Given the description of an element on the screen output the (x, y) to click on. 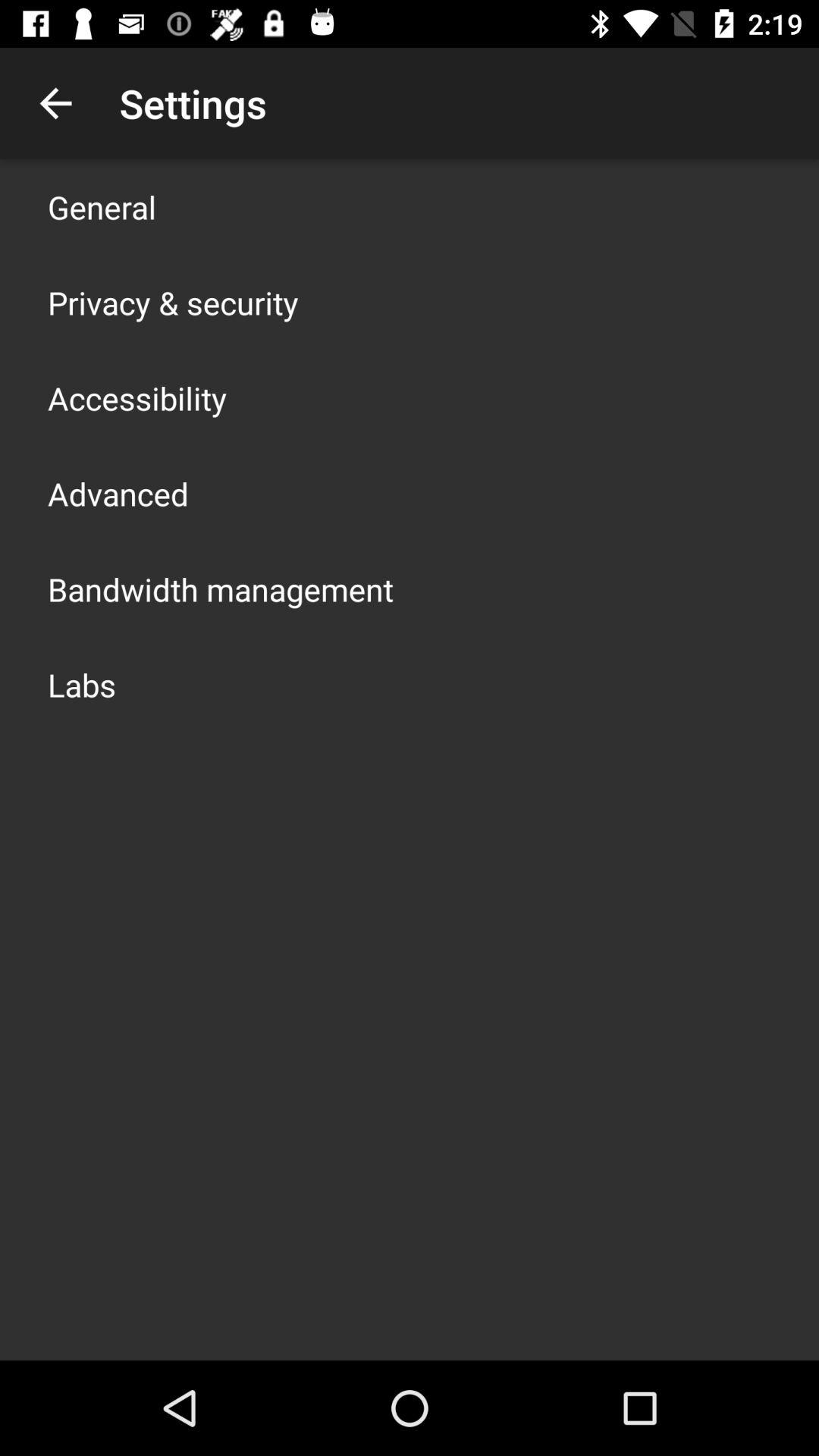
flip until the advanced icon (117, 493)
